Given the description of an element on the screen output the (x, y) to click on. 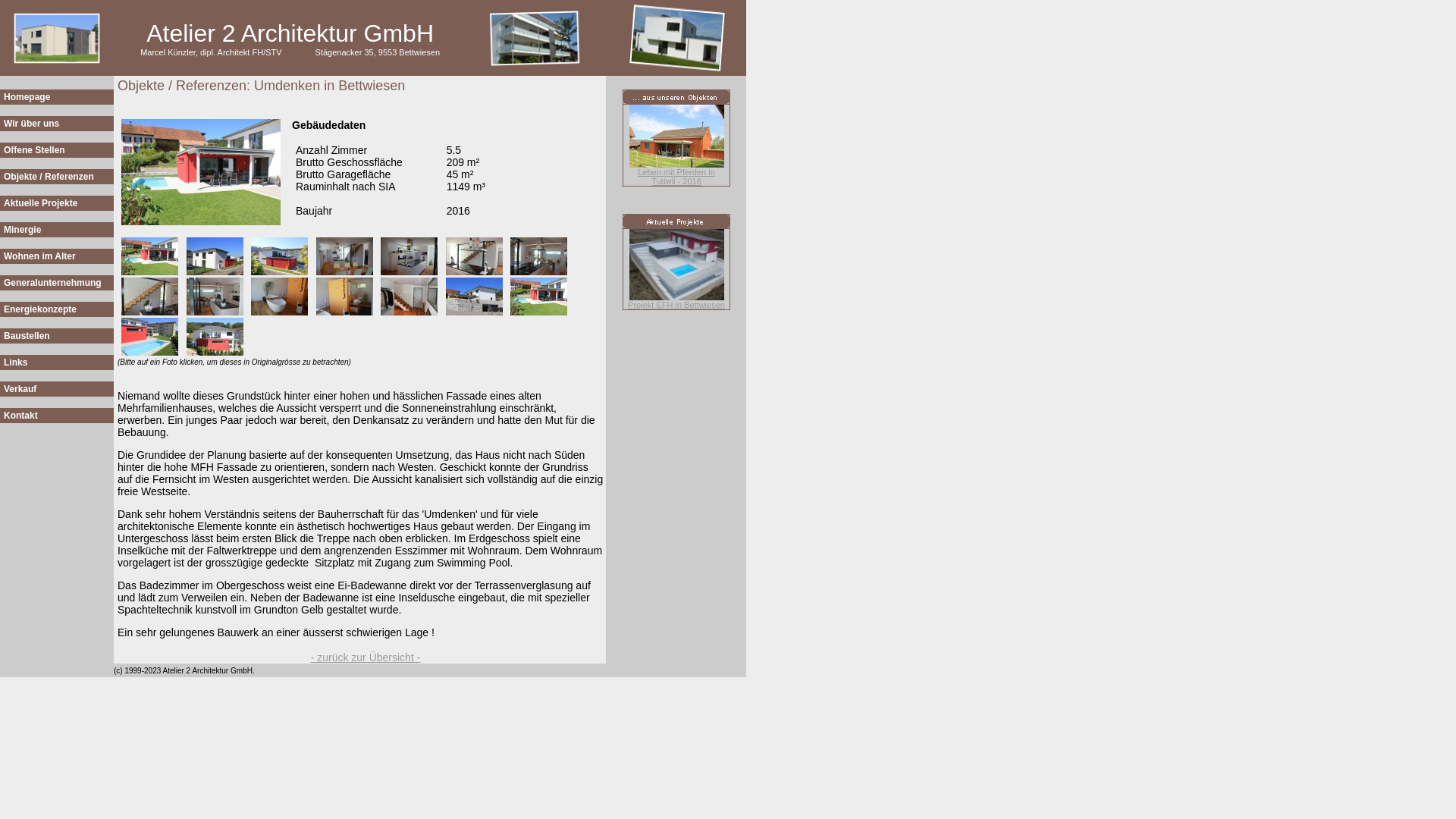
Wohnen im Alter Element type: text (39, 256)
Generalunternehmung Element type: text (52, 282)
Baustellen Element type: text (26, 335)
Verkauf Element type: text (19, 388)
Aktuelle Projekte Element type: text (40, 202)
Kontakt Element type: text (20, 415)
Links Element type: text (15, 362)
Homepage Element type: text (26, 96)
Energiekonzepte Element type: text (39, 309)
Projekt EFH in Bettwiesen Element type: text (675, 304)
Offene Stellen Element type: text (34, 149)
Objekte / Referenzen Element type: text (48, 176)
Leben mit Pferden in Tuttwil - 2016 Element type: text (676, 176)
Minergie Element type: text (21, 229)
